Given the description of an element on the screen output the (x, y) to click on. 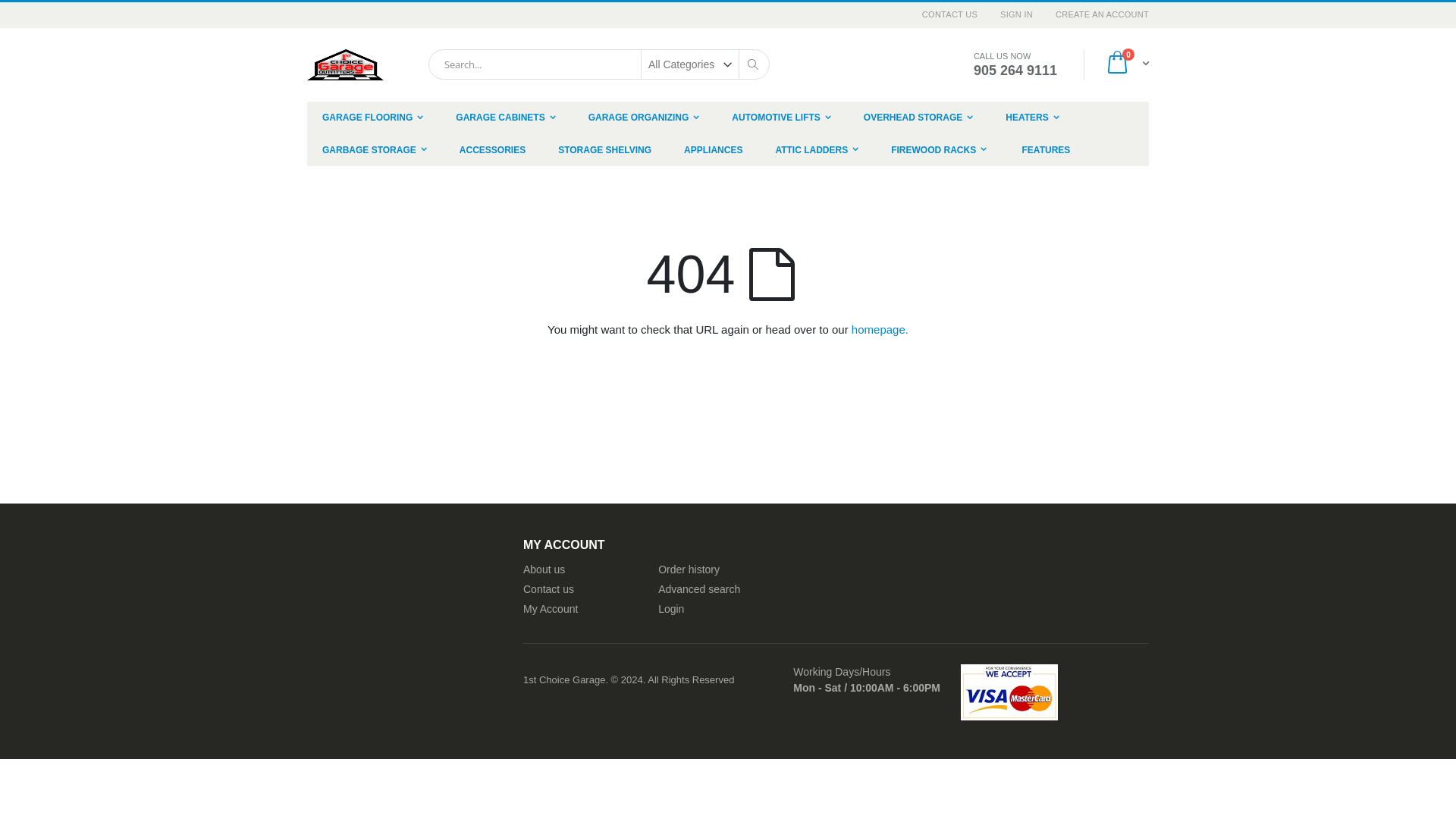
Contact us Element type: text (548, 589)
Advanced search Element type: text (699, 589)
Cart
0 Element type: text (1126, 64)
GARAGE ORGANIZING Element type: text (644, 117)
CONTACT US Element type: text (949, 14)
ACCESSORIES Element type: text (492, 149)
OVERHEAD STORAGE Element type: text (918, 117)
CREATE AN ACCOUNT Element type: text (1096, 14)
Search Element type: text (752, 64)
HEATERS Element type: text (1031, 117)
homepage. Element type: text (879, 329)
Garage Organizing and Renovation Experts! Element type: hover (345, 63)
My Account Element type: text (550, 608)
FEATURES Element type: text (1046, 149)
GARBAGE STORAGE Element type: text (374, 149)
APPLIANCES Element type: text (712, 149)
Order history Element type: text (688, 569)
SIGN IN Element type: text (1016, 14)
GARAGE FLOORING Element type: text (372, 117)
About us Element type: text (543, 569)
STORAGE SHELVING Element type: text (604, 149)
ATTIC LADDERS Element type: text (816, 149)
Login Element type: text (671, 608)
FIREWOOD RACKS Element type: text (938, 149)
AUTOMOTIVE LIFTS Element type: text (780, 117)
GARAGE CABINETS Element type: text (505, 117)
